Given the description of an element on the screen output the (x, y) to click on. 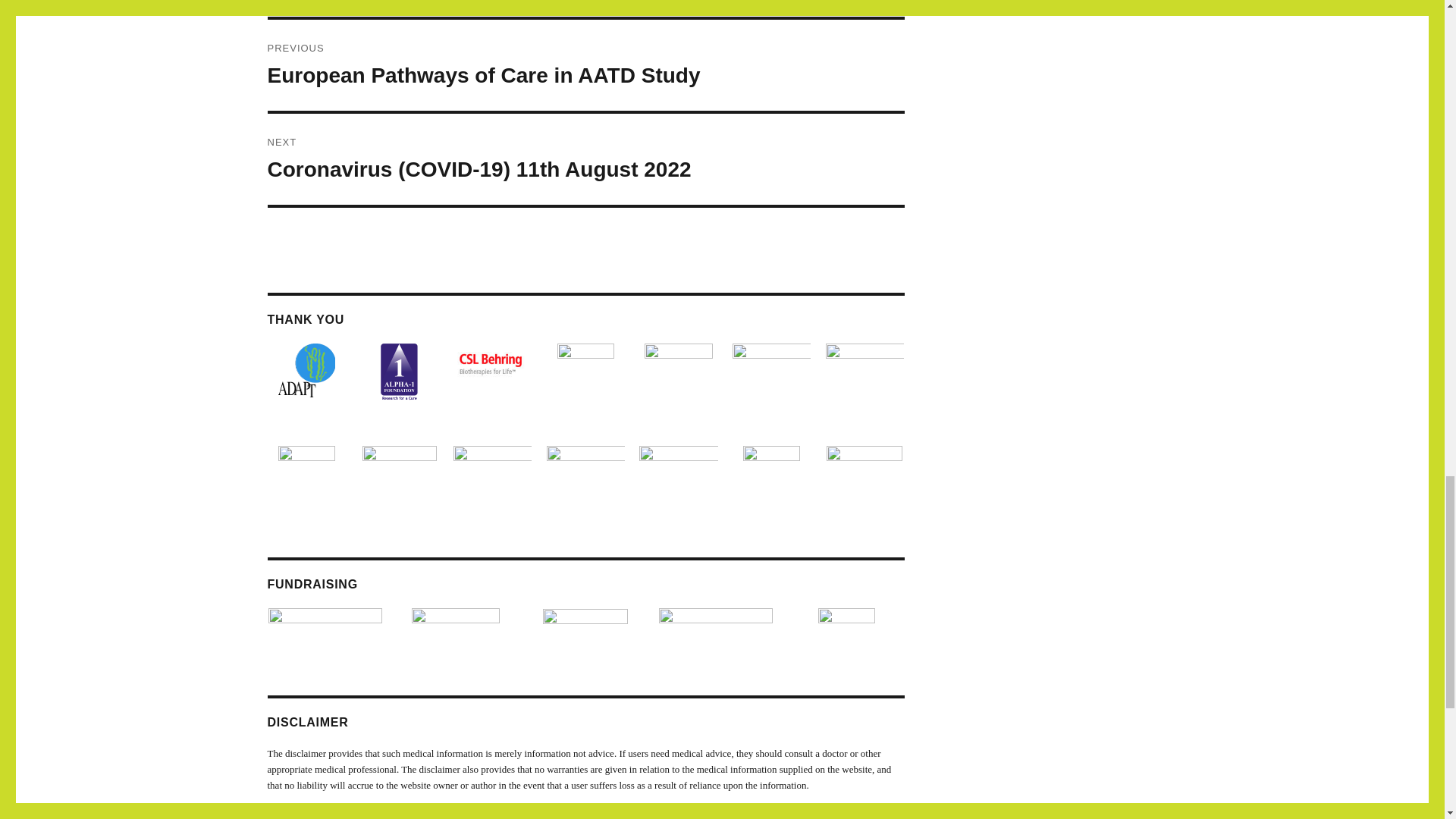
easysearch.org.uk (455, 619)
JustGiving (585, 614)
ebay for Charity (846, 622)
Donate with JustGiving (716, 621)
easyfundraising.org.uk (324, 620)
